Given the description of an element on the screen output the (x, y) to click on. 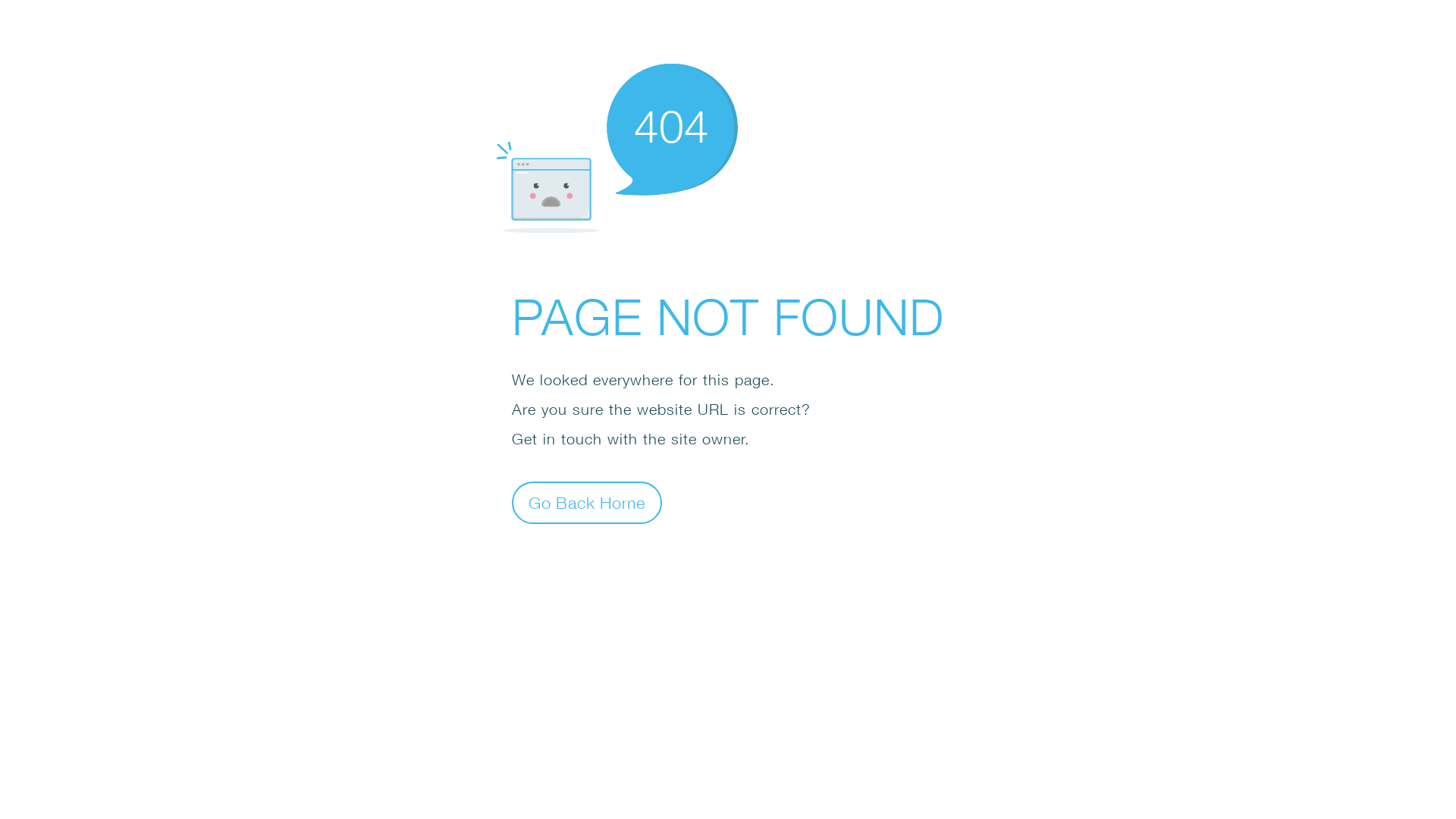
Go Back Home Element type: text (586, 502)
